Given the description of an element on the screen output the (x, y) to click on. 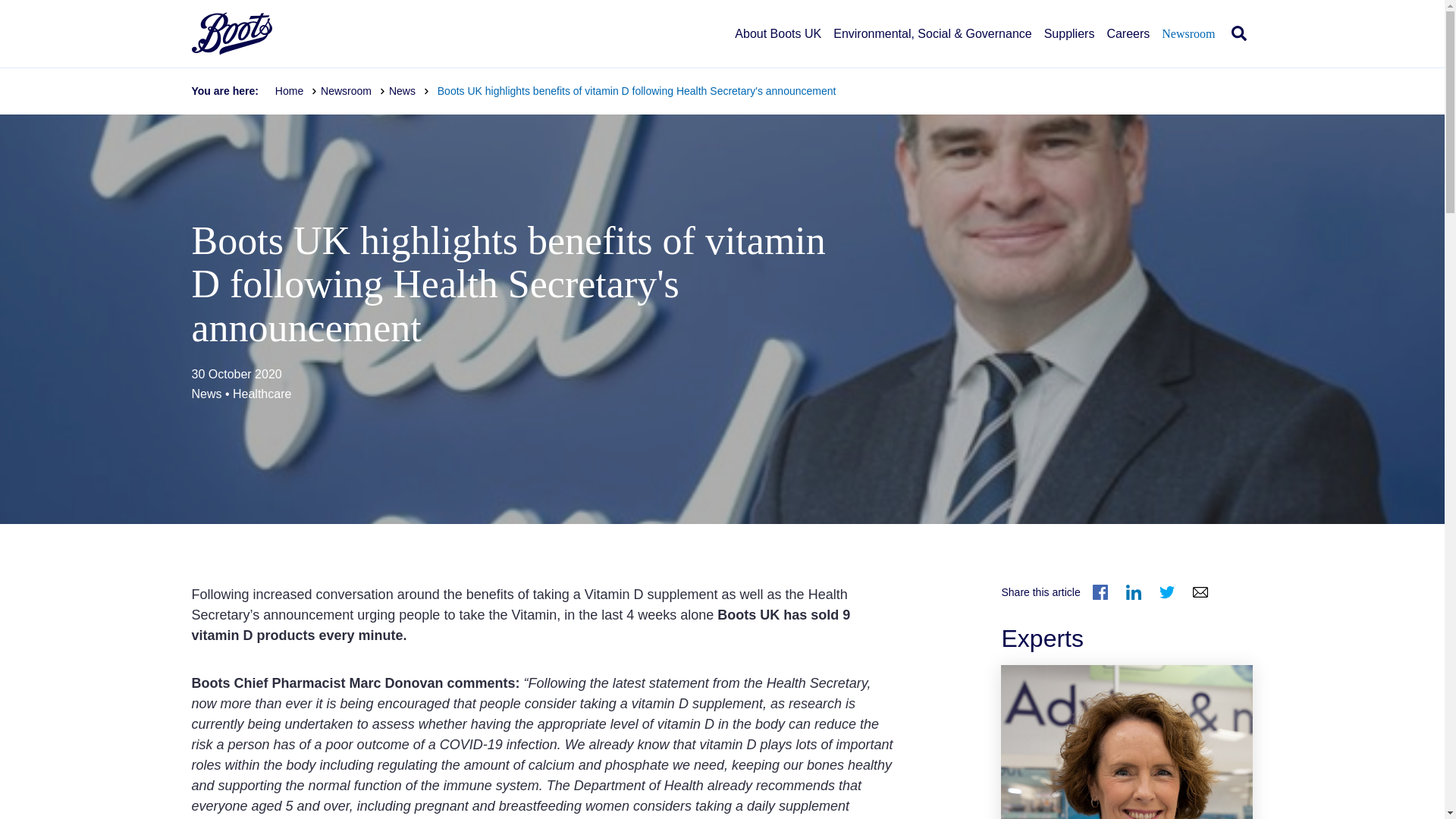
Boots UK (230, 33)
Suppliers (1068, 47)
Careers (1128, 47)
Newsroom (352, 91)
About Boots UK (778, 47)
Home (296, 91)
News (408, 91)
Newsroom (1187, 47)
